Given the description of an element on the screen output the (x, y) to click on. 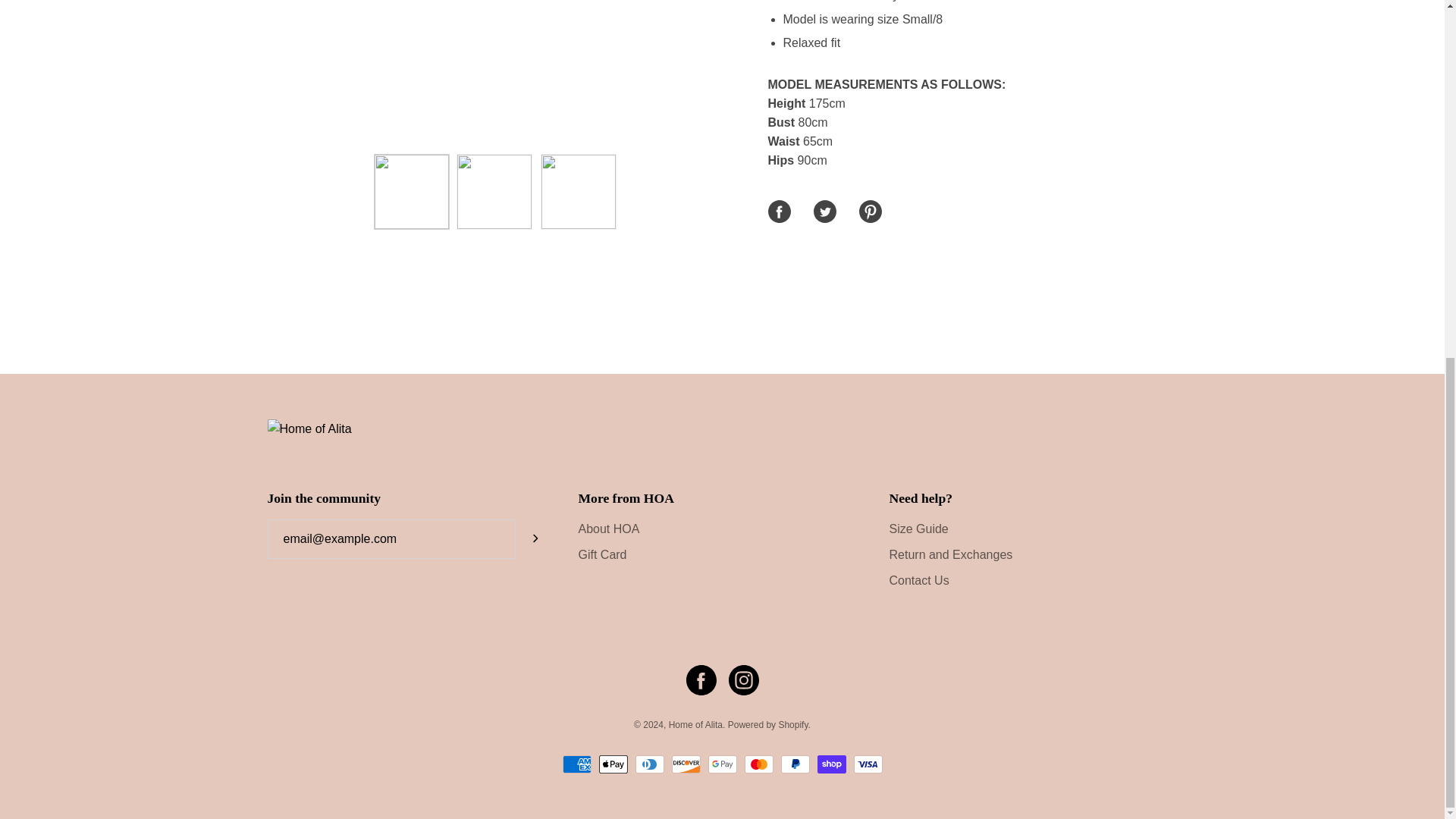
Google Pay (721, 764)
Share on Pinterest (869, 210)
View Home of Alita on Facebook (700, 680)
American Express (576, 764)
Diners Club (648, 764)
Apple Pay (612, 764)
Discover (685, 764)
Share on Facebook (778, 210)
View Home of Alita on Instagram (743, 680)
Share on Twitter (823, 210)
